Given the description of an element on the screen output the (x, y) to click on. 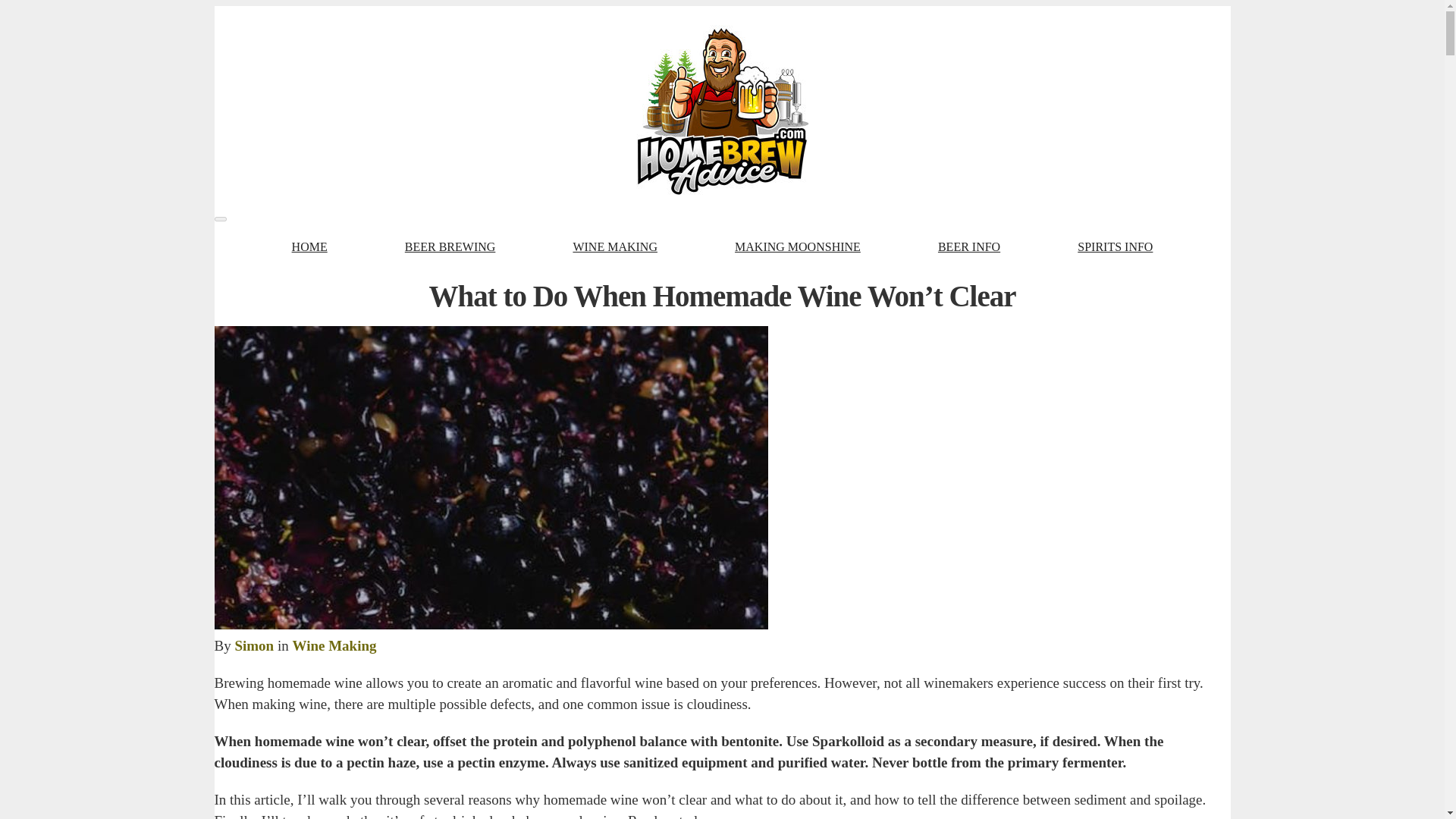
SPIRITS INFO (1115, 247)
Simon (253, 645)
BEER INFO (968, 247)
BEER BREWING (450, 247)
MAKING MOONSHINE (797, 247)
WINE MAKING (615, 247)
Wine Making (333, 645)
